Given the description of an element on the screen output the (x, y) to click on. 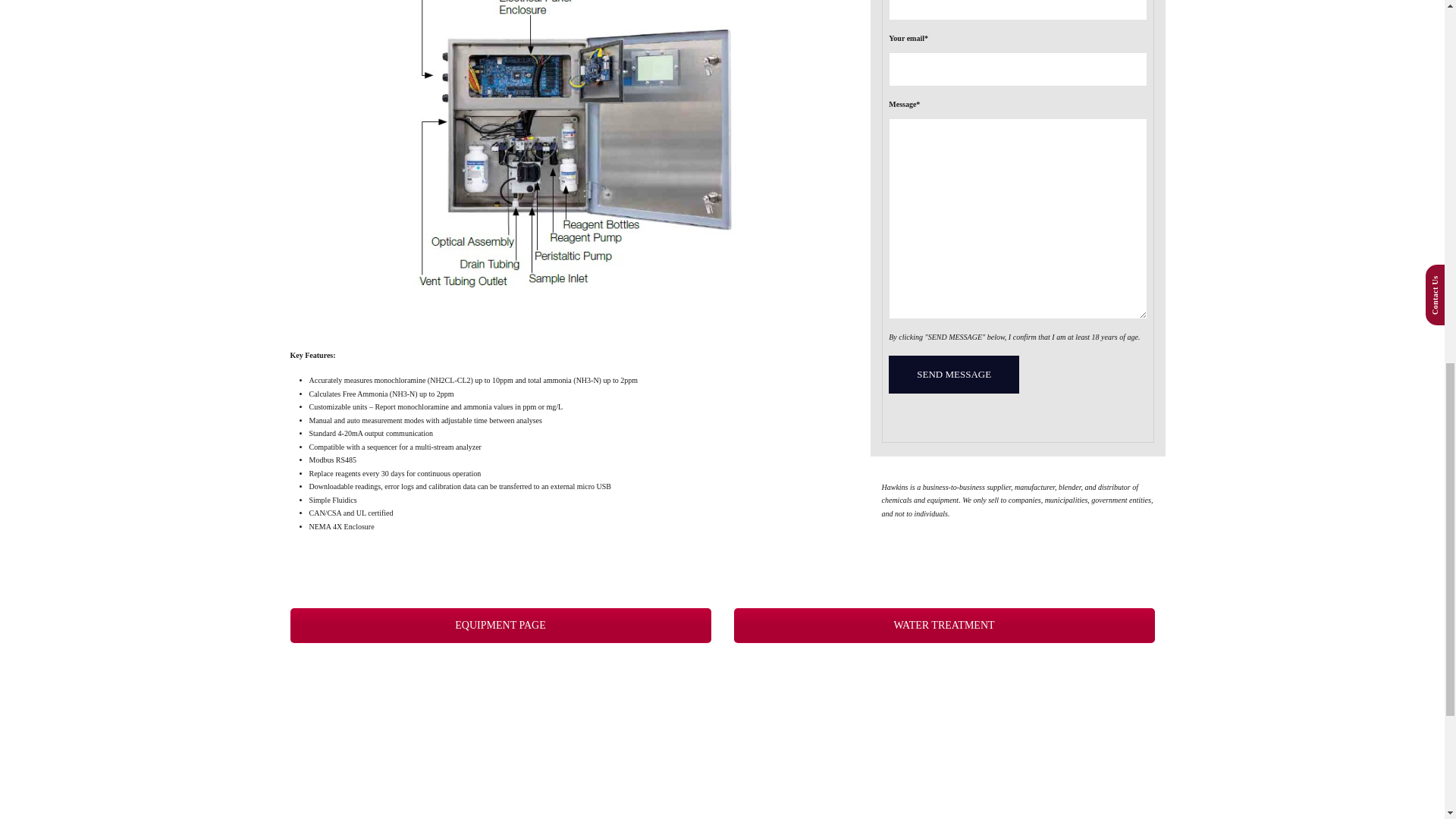
WATER TREATMENT (943, 625)
Hawkins Inc. Equipment Supplier (499, 625)
EQUIPMENT PAGE (499, 625)
send message (953, 374)
send message (953, 374)
Hawkins Inc. Equipment Supplier (943, 625)
